Given the description of an element on the screen output the (x, y) to click on. 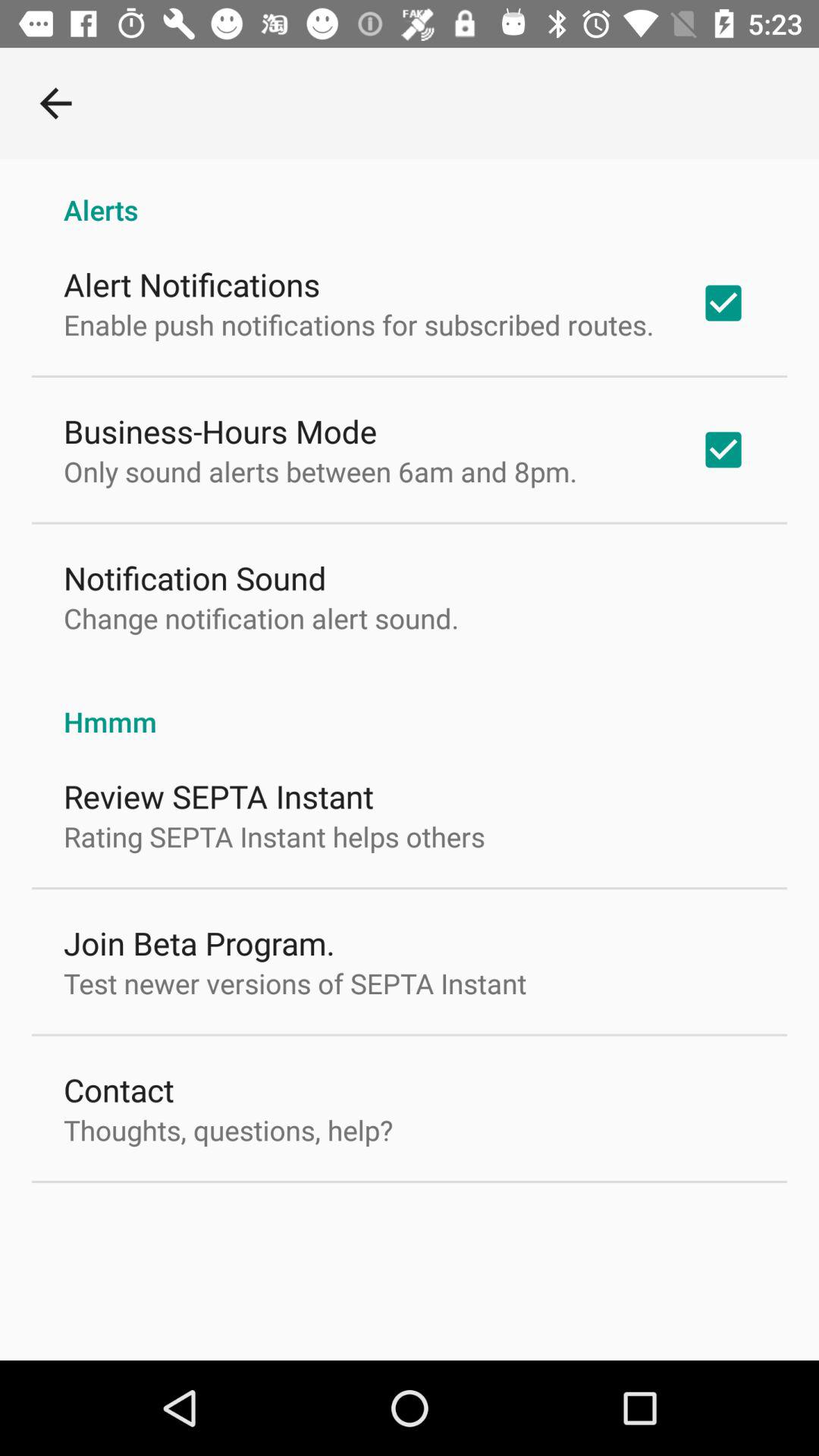
scroll until contact icon (118, 1089)
